Given the description of an element on the screen output the (x, y) to click on. 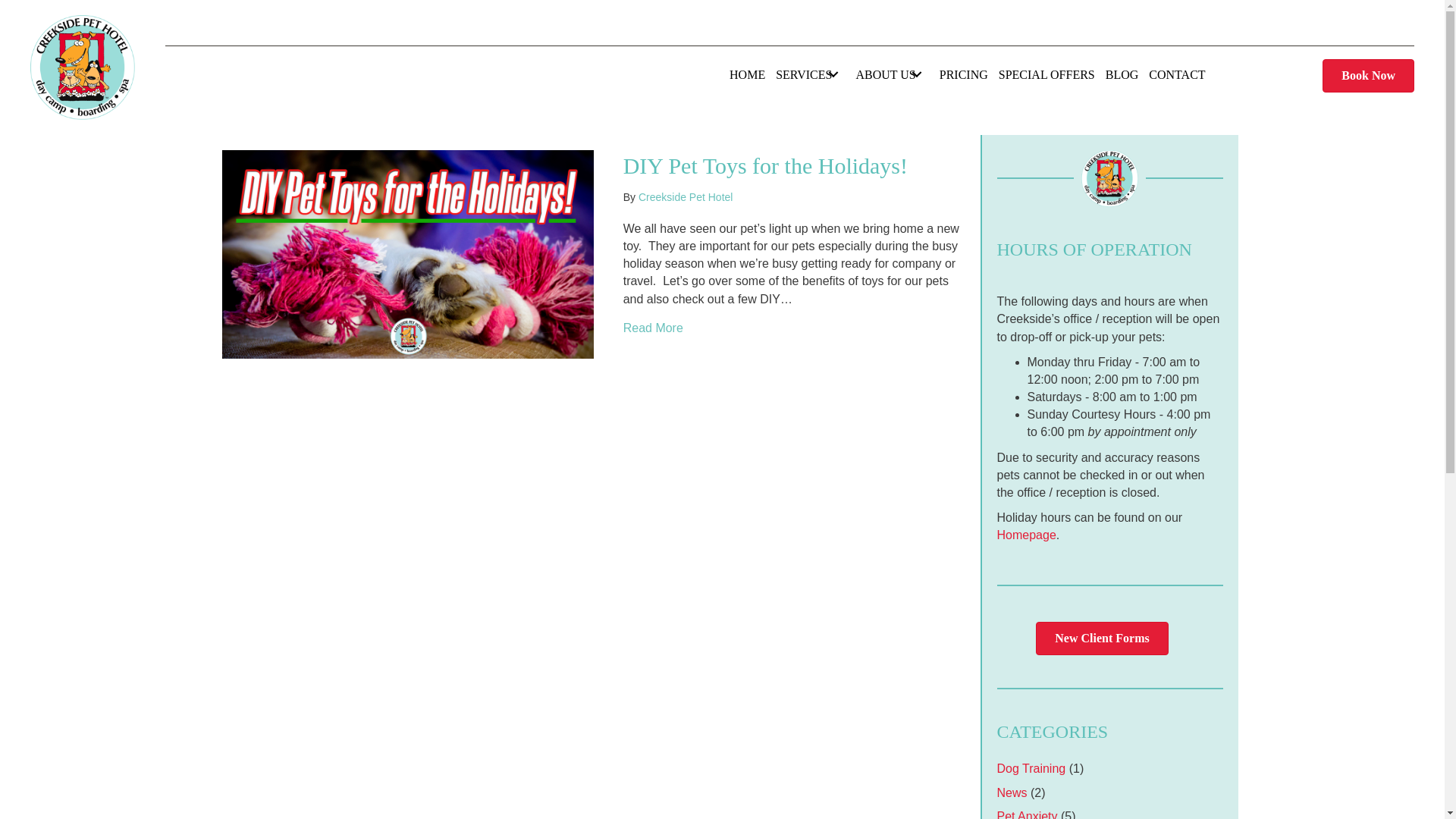
New Client Forms (1101, 638)
Read More (652, 327)
DIY Pet Toys for the Holidays! (406, 253)
DIY Pet Toys for the Holidays! (652, 327)
Homepage (1025, 534)
BLOG (1122, 74)
SPECIAL OFFERS (1046, 74)
creekside-logo-border-400 (82, 67)
HOME (746, 74)
News (1010, 792)
